Given the description of an element on the screen output the (x, y) to click on. 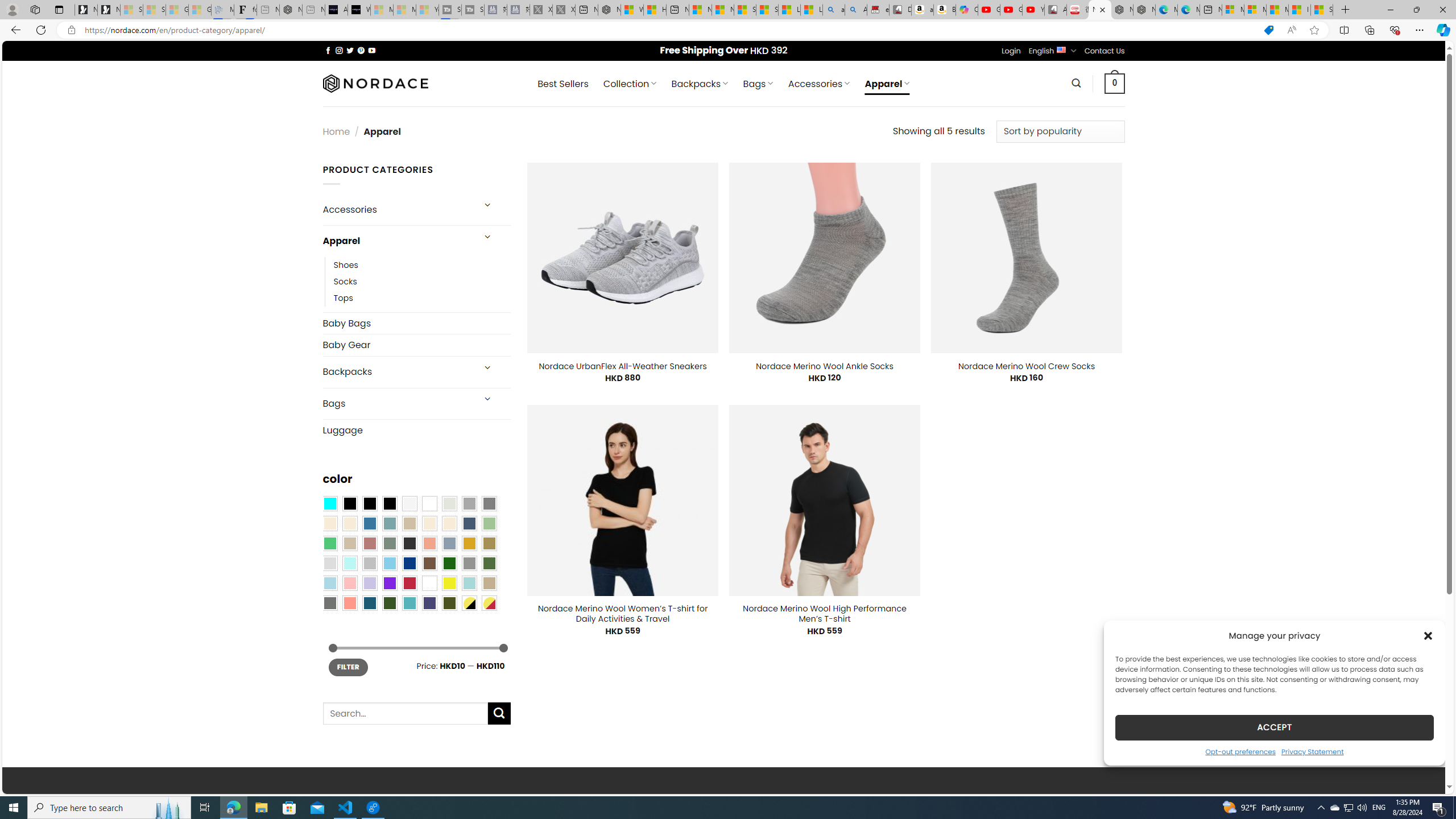
FILTER (347, 667)
Peach Pink (349, 602)
Nordace UrbanFlex All-Weather Sneakers (622, 365)
Nordace Merino Wool Ankle Socks (824, 365)
Forest (389, 602)
Black (369, 503)
Red (408, 582)
Blue Sage (389, 522)
Emerald Green (329, 542)
Hale Navy (468, 522)
